Given the description of an element on the screen output the (x, y) to click on. 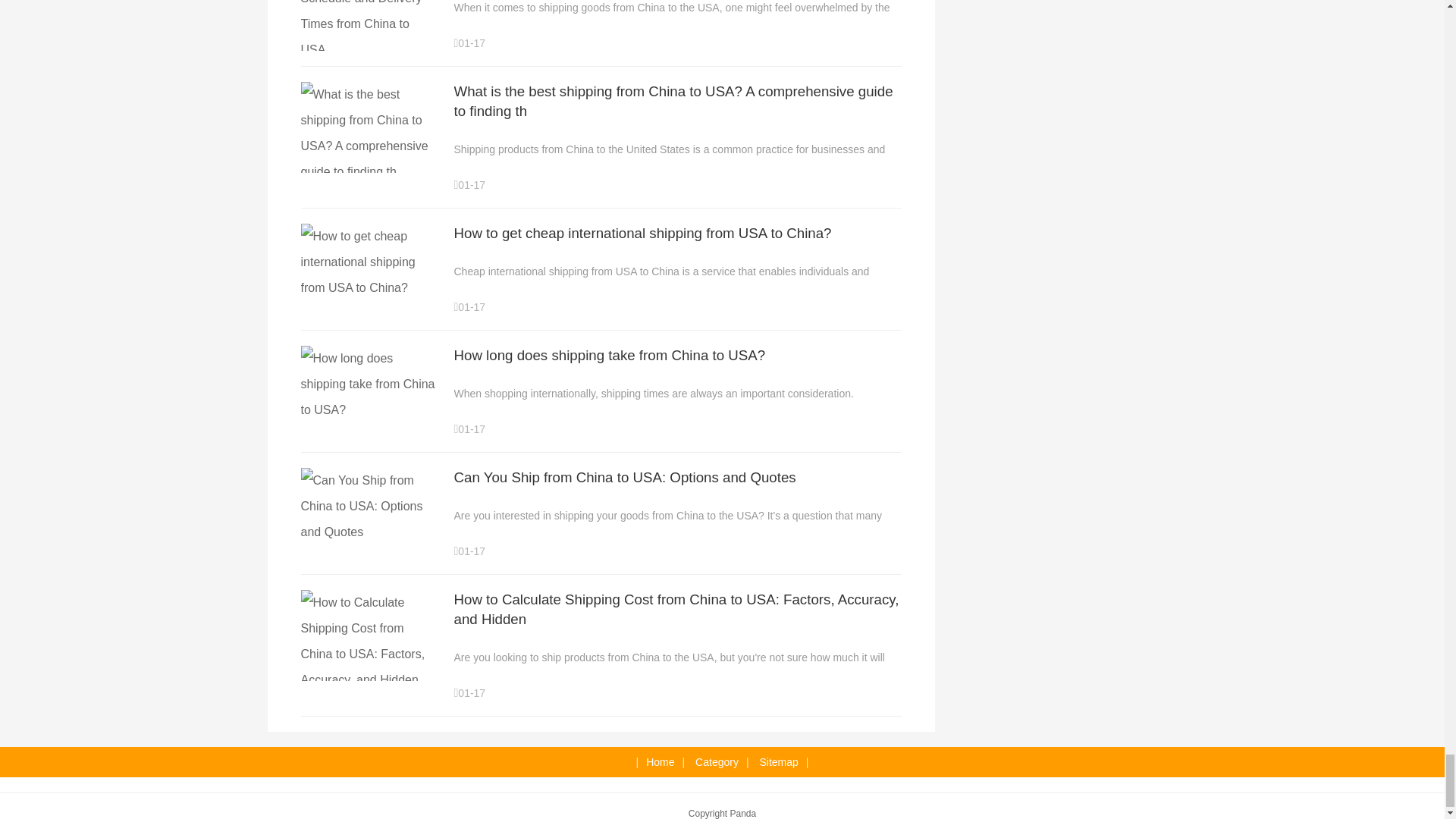
How to get cheap international shipping from USA to China? (367, 287)
DHL Shipping Schedule and Delivery Times from China to USA (367, 31)
How to get cheap international shipping from USA to China? (641, 232)
How long does shipping take from China to USA? (608, 355)
DHL Shipping Schedule and Delivery Times from China to USA (367, 49)
Can You Ship from China to USA: Options and Quotes (623, 477)
